Given the description of an element on the screen output the (x, y) to click on. 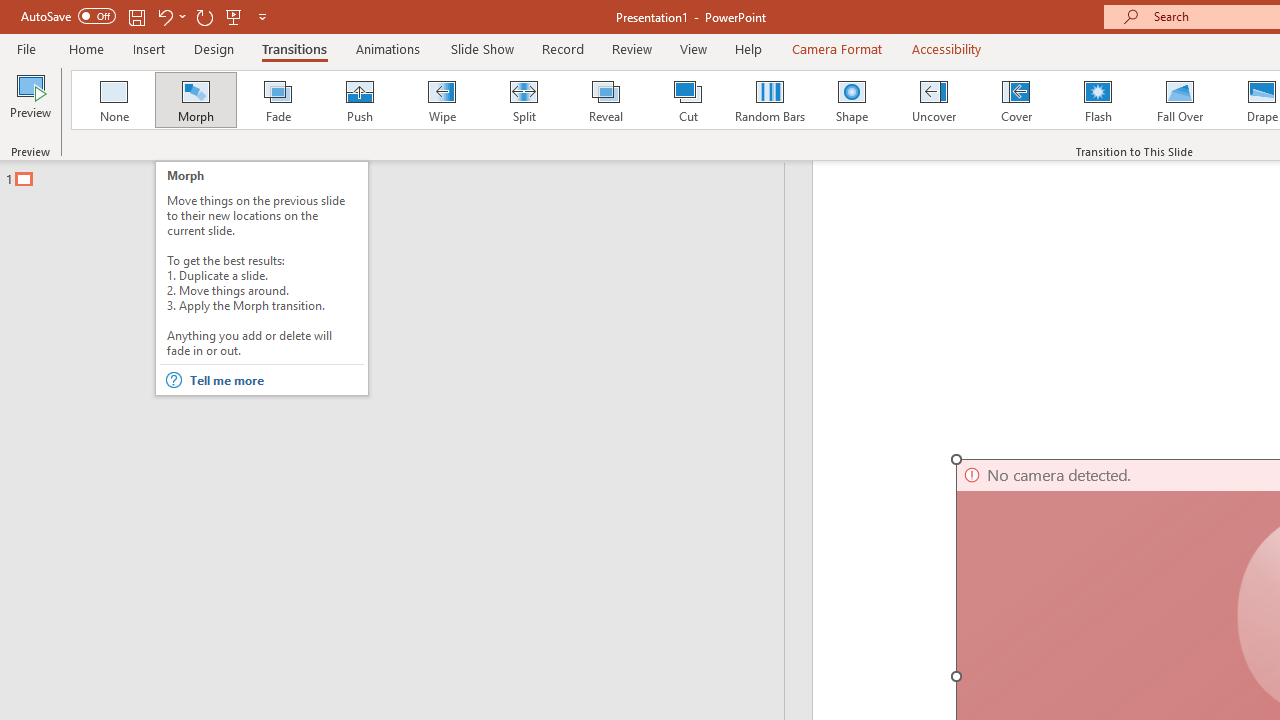
Camera Format (836, 48)
Uncover (934, 100)
Morph (195, 100)
